Given the description of an element on the screen output the (x, y) to click on. 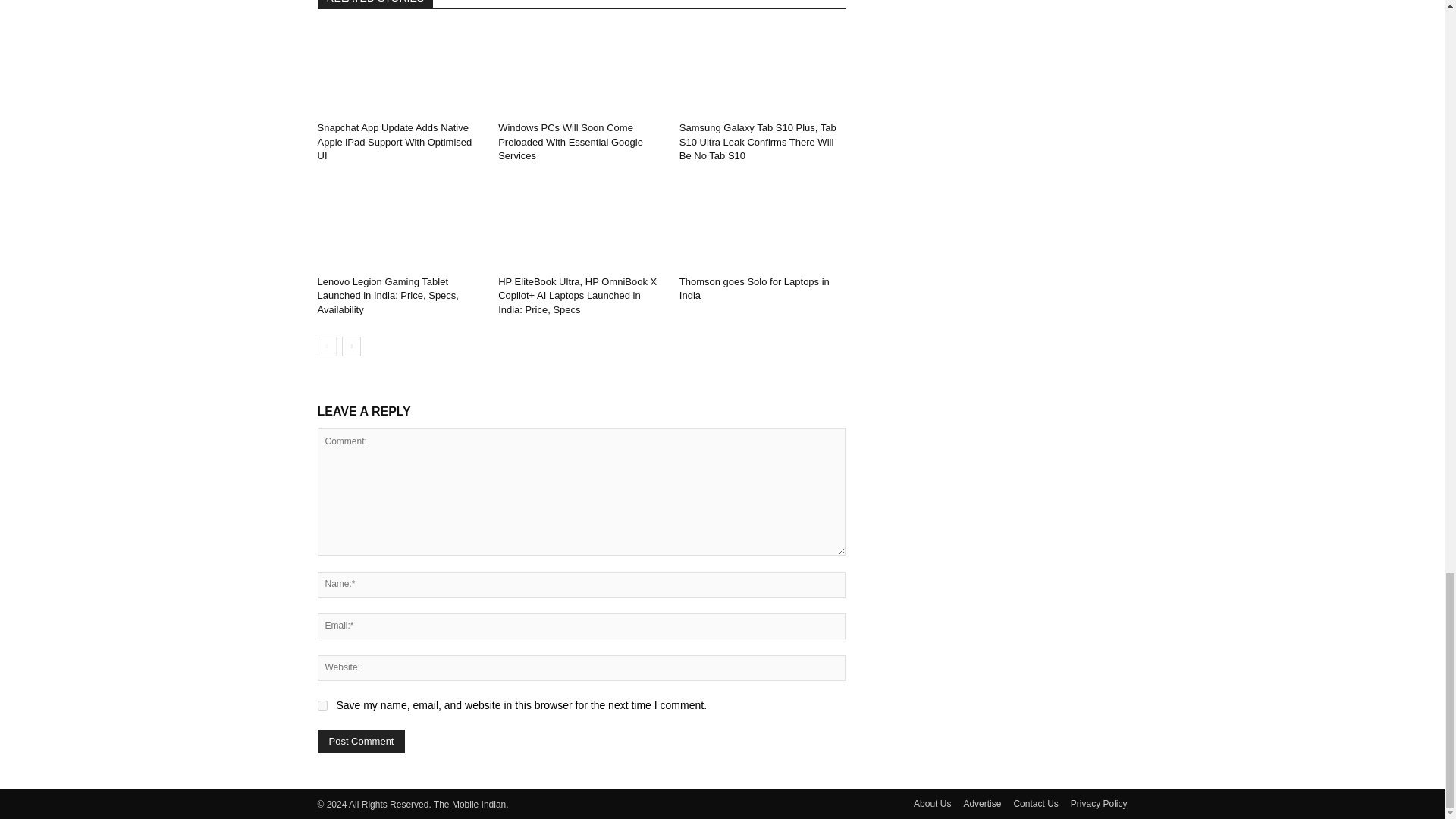
Post Comment (360, 740)
yes (321, 705)
